Given the description of an element on the screen output the (x, y) to click on. 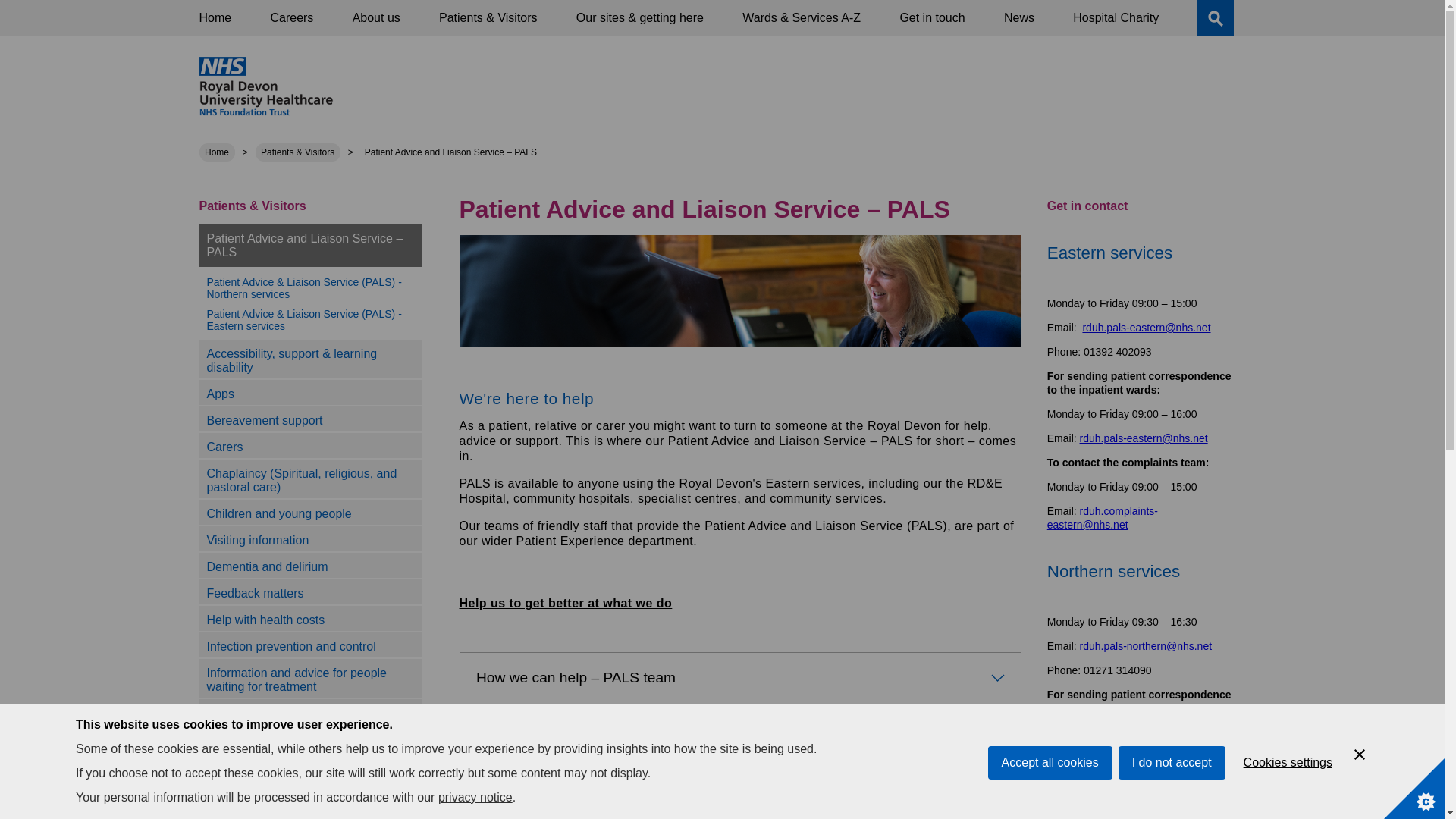
I do not accept (1171, 806)
Hospital Charity (1115, 17)
Home (216, 152)
Get in touch (931, 17)
About us (376, 17)
Apps (219, 393)
Cookies settings (1287, 797)
Help Us To Get Better At What We Do (566, 603)
Children and young people (278, 513)
Bereavement support (263, 420)
Home (214, 17)
News (1018, 17)
Carers (224, 446)
Accept all cookies (1050, 816)
Careers (291, 17)
